Given the description of an element on the screen output the (x, y) to click on. 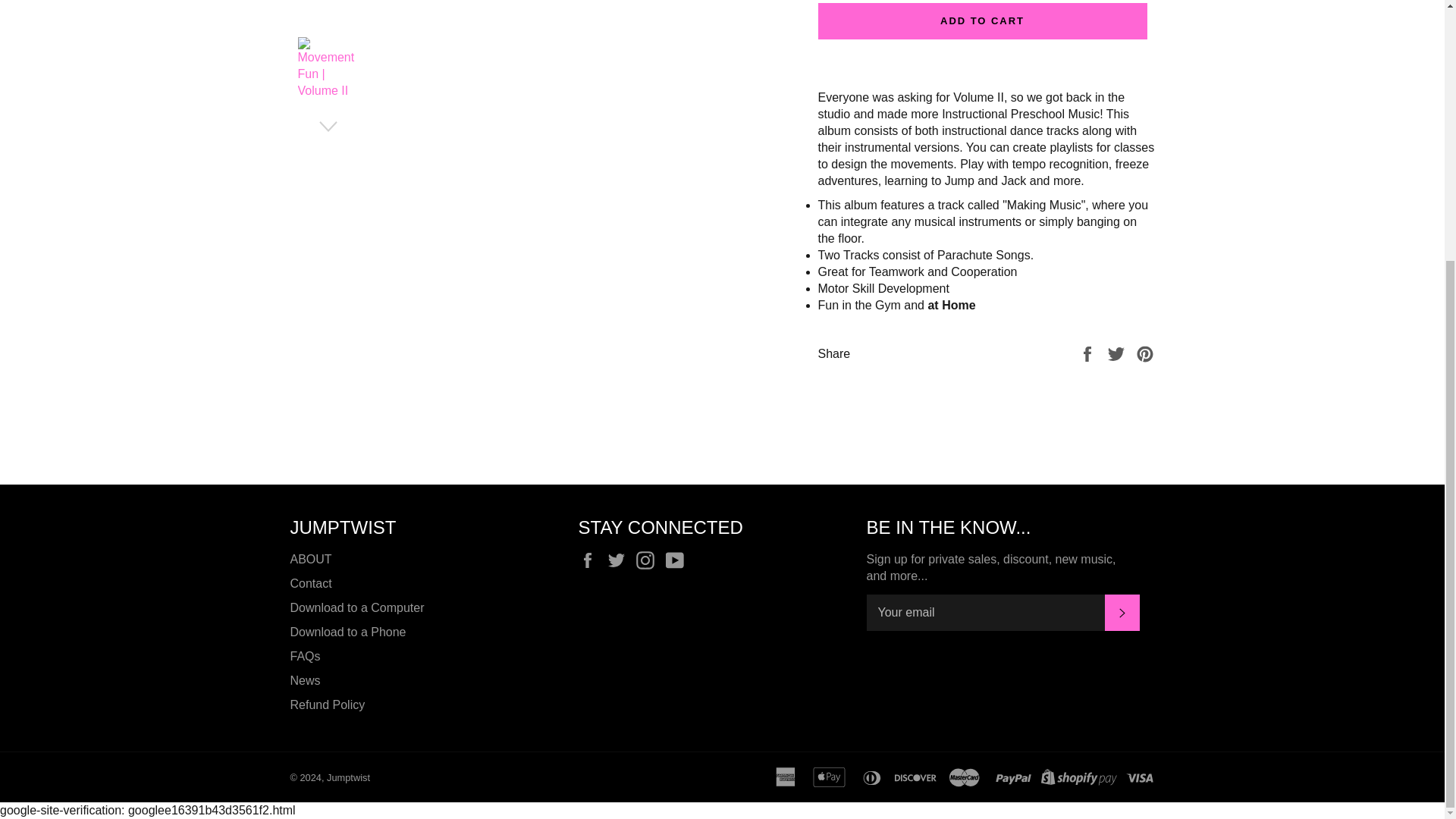
Share on Facebook (1088, 352)
Jumptwist  on Instagram (649, 560)
Jumptwist  on Twitter (620, 560)
Jumptwist  on YouTube (678, 560)
Pin on Pinterest (1144, 352)
Tweet on Twitter (1117, 352)
Jumptwist  on Facebook (591, 560)
